Given the description of an element on the screen output the (x, y) to click on. 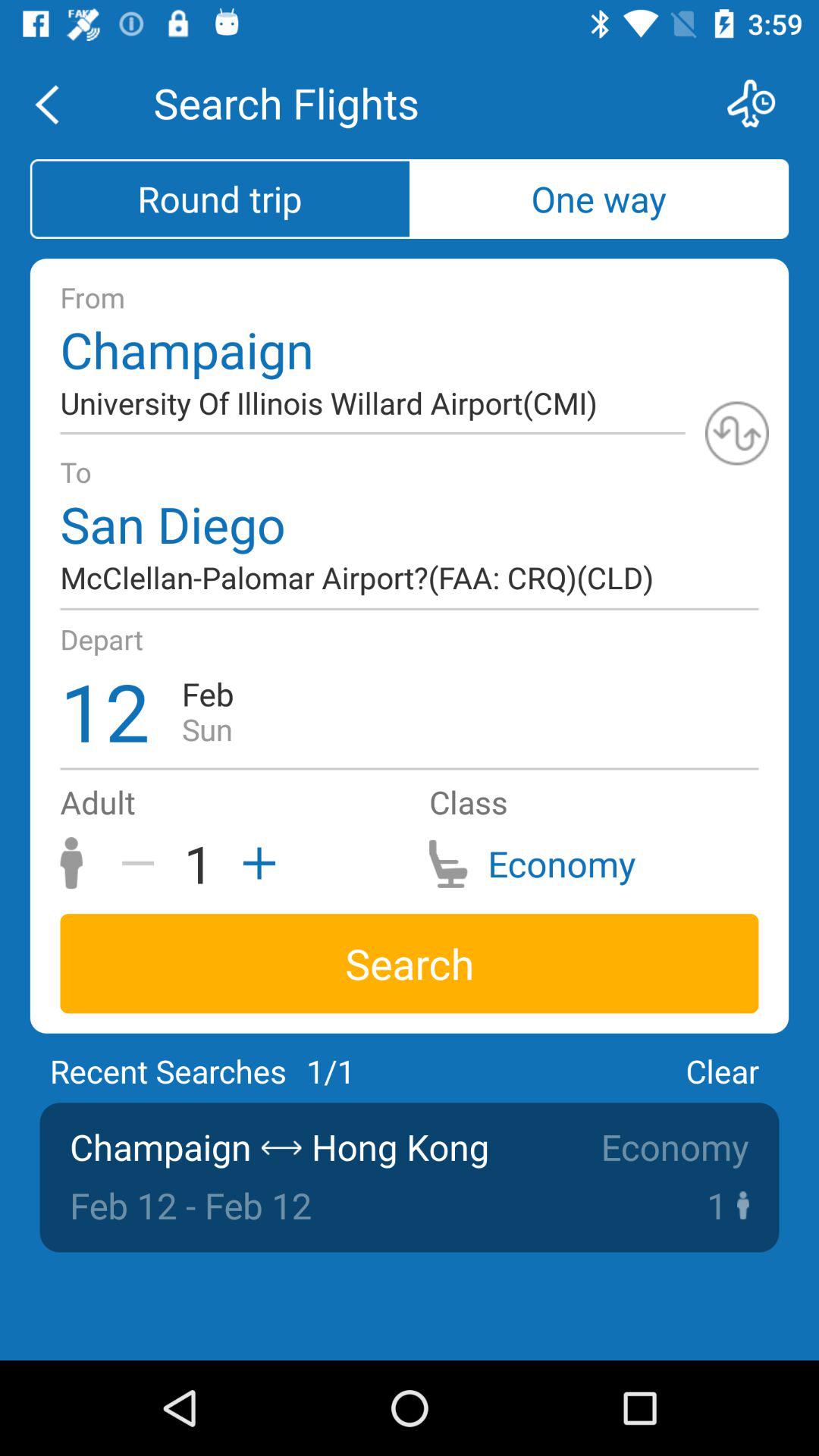
select item above the san diego icon (736, 433)
